Given the description of an element on the screen output the (x, y) to click on. 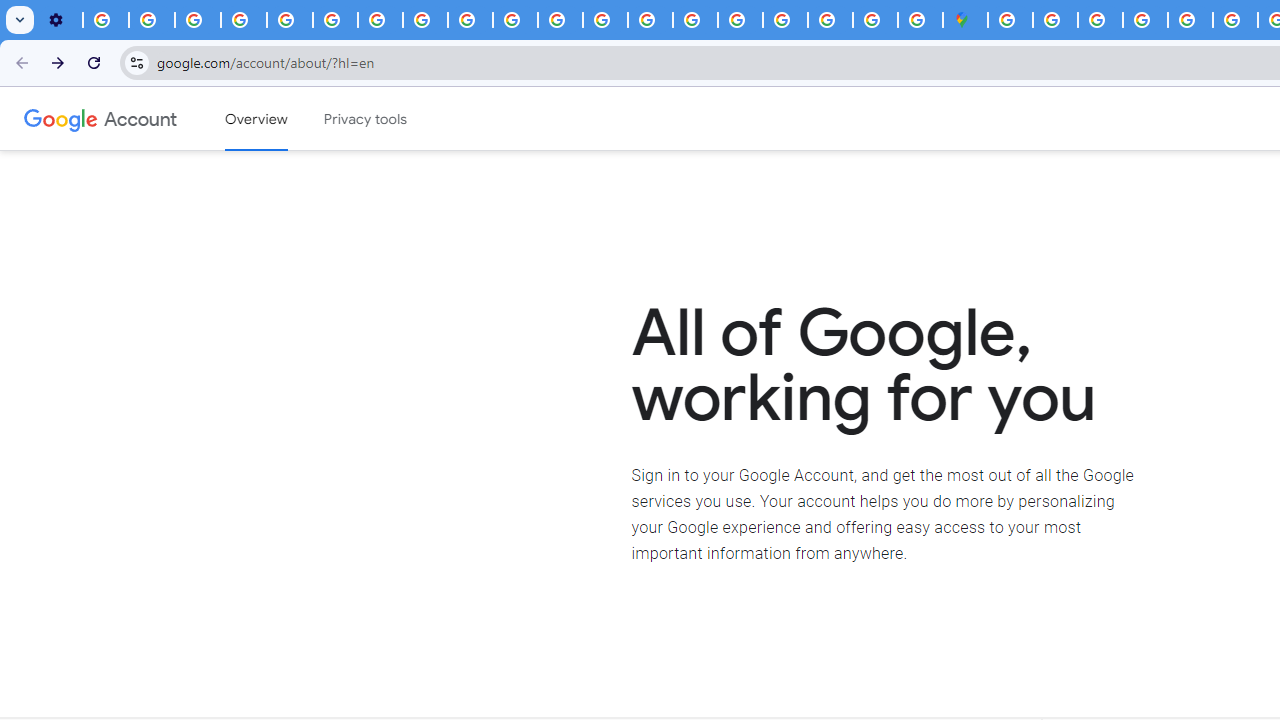
Terms and Conditions (1190, 20)
Privacy Checkup (514, 20)
Settings - Customize profile (60, 20)
Delete photos & videos - Computer - Google Photos Help (106, 20)
https://scholar.google.com/ (559, 20)
Privacy Help Center - Policies Help (1235, 20)
Google Maps (965, 20)
